Given the description of an element on the screen output the (x, y) to click on. 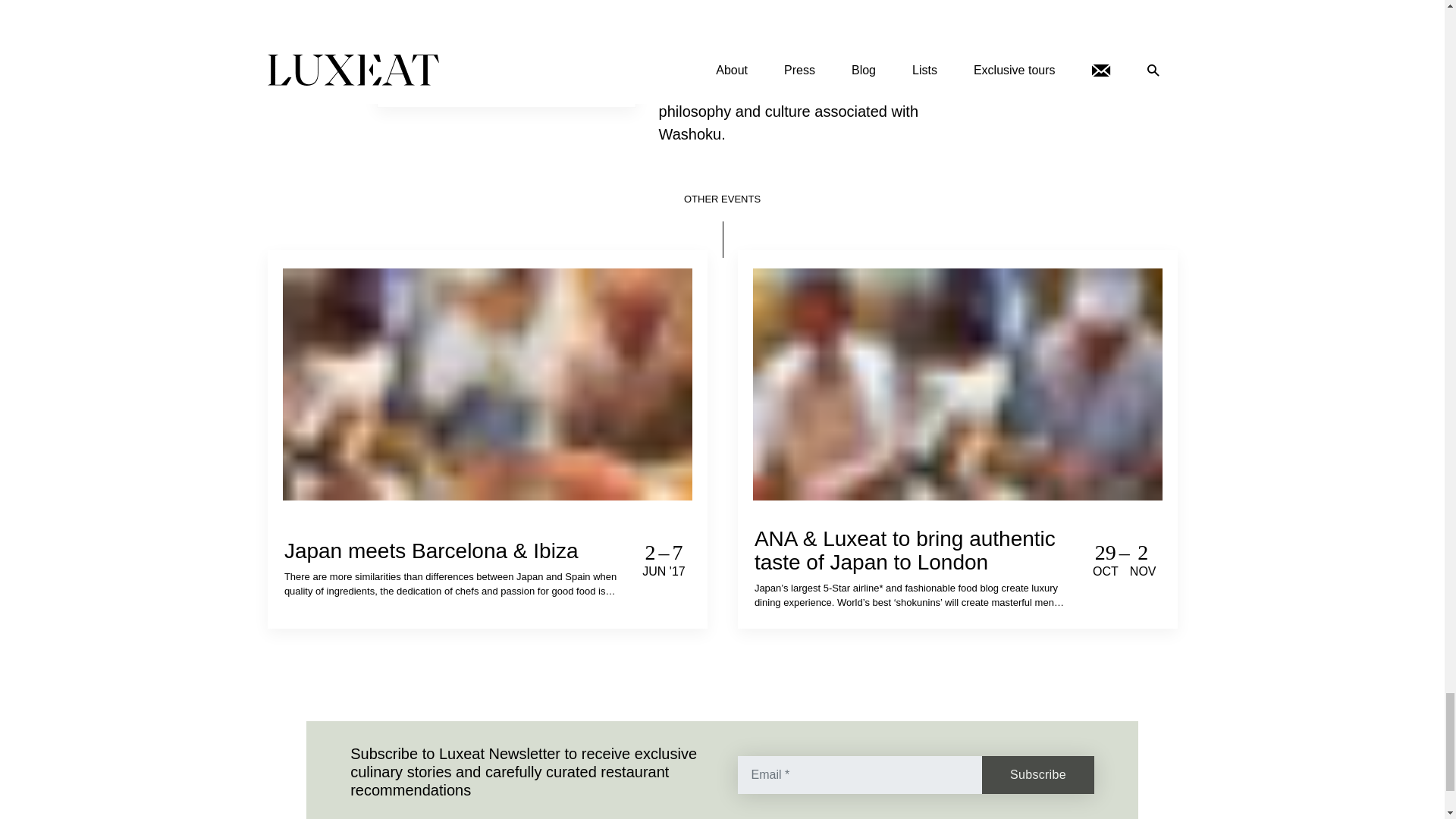
Subscribe (1037, 774)
Subscribe (1037, 774)
